Given the description of an element on the screen output the (x, y) to click on. 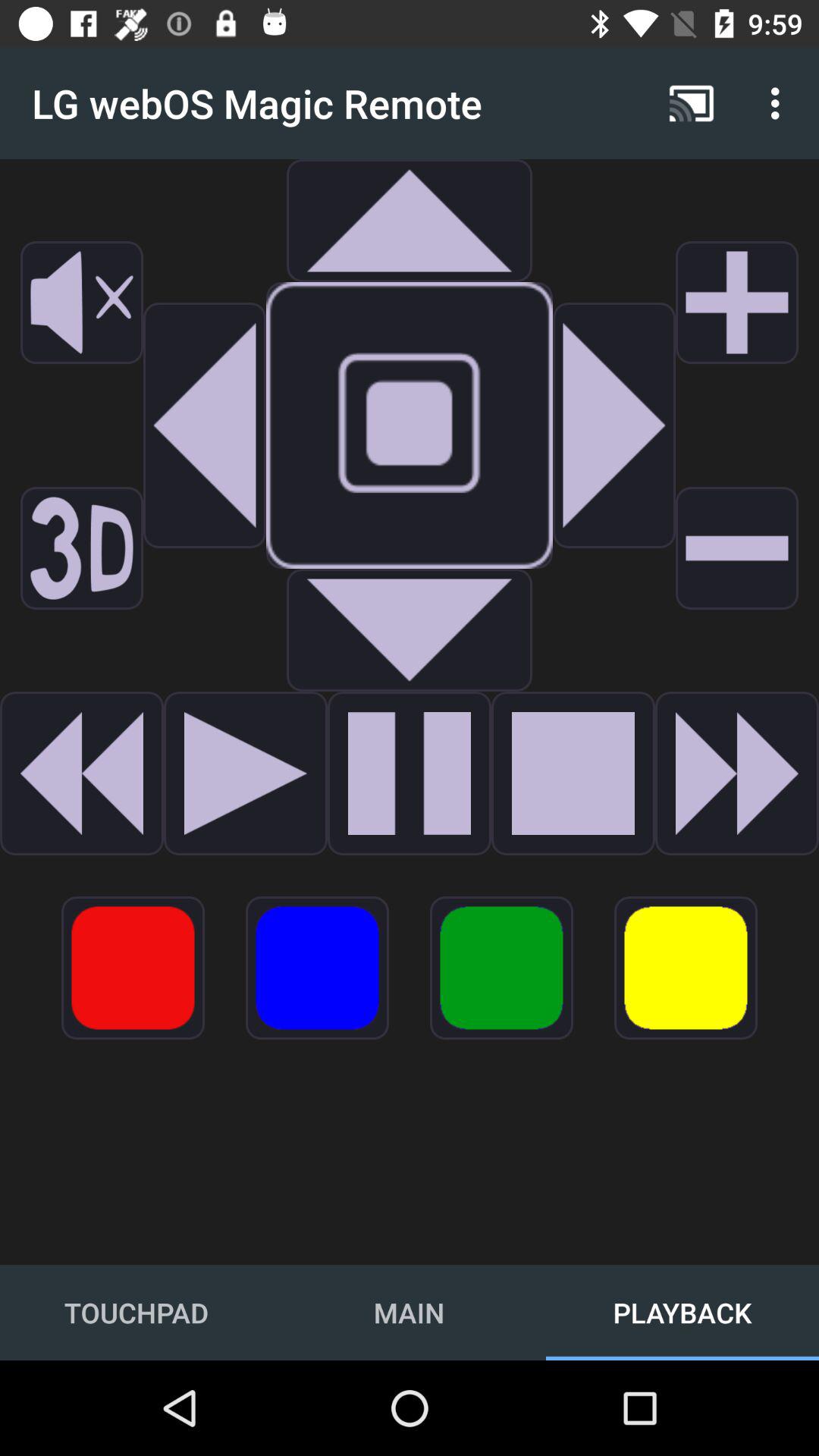
go prevent (245, 773)
